Given the description of an element on the screen output the (x, y) to click on. 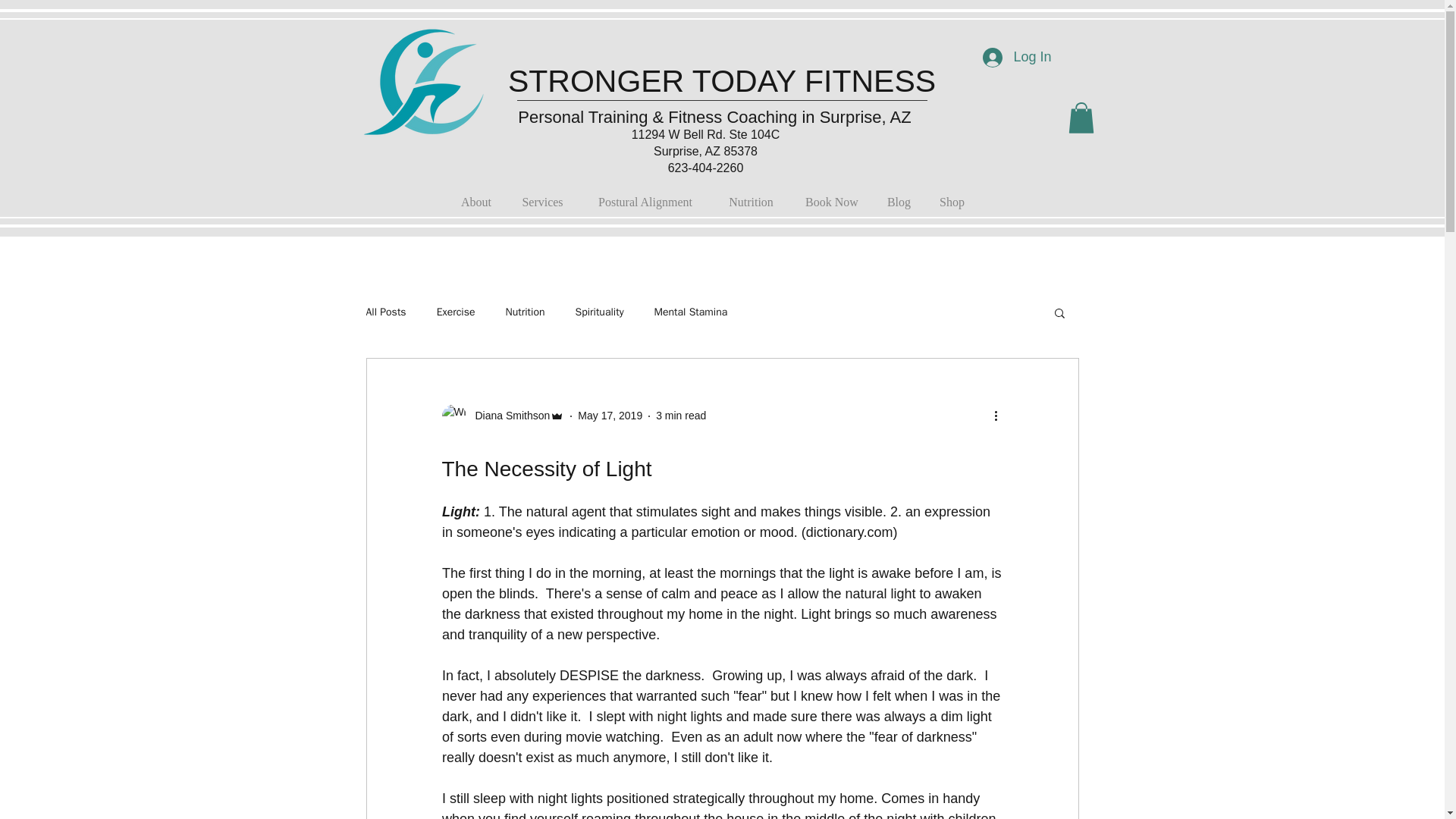
Exercise (456, 312)
3 min read (681, 415)
Book Now (831, 195)
STRONGER TODAY FITNESS (722, 80)
Postural Alignment (645, 195)
May 17, 2019 (610, 415)
Diana Smithson (502, 416)
Spirituality (599, 312)
Nutrition (524, 312)
Log In (1016, 57)
